Given the description of an element on the screen output the (x, y) to click on. 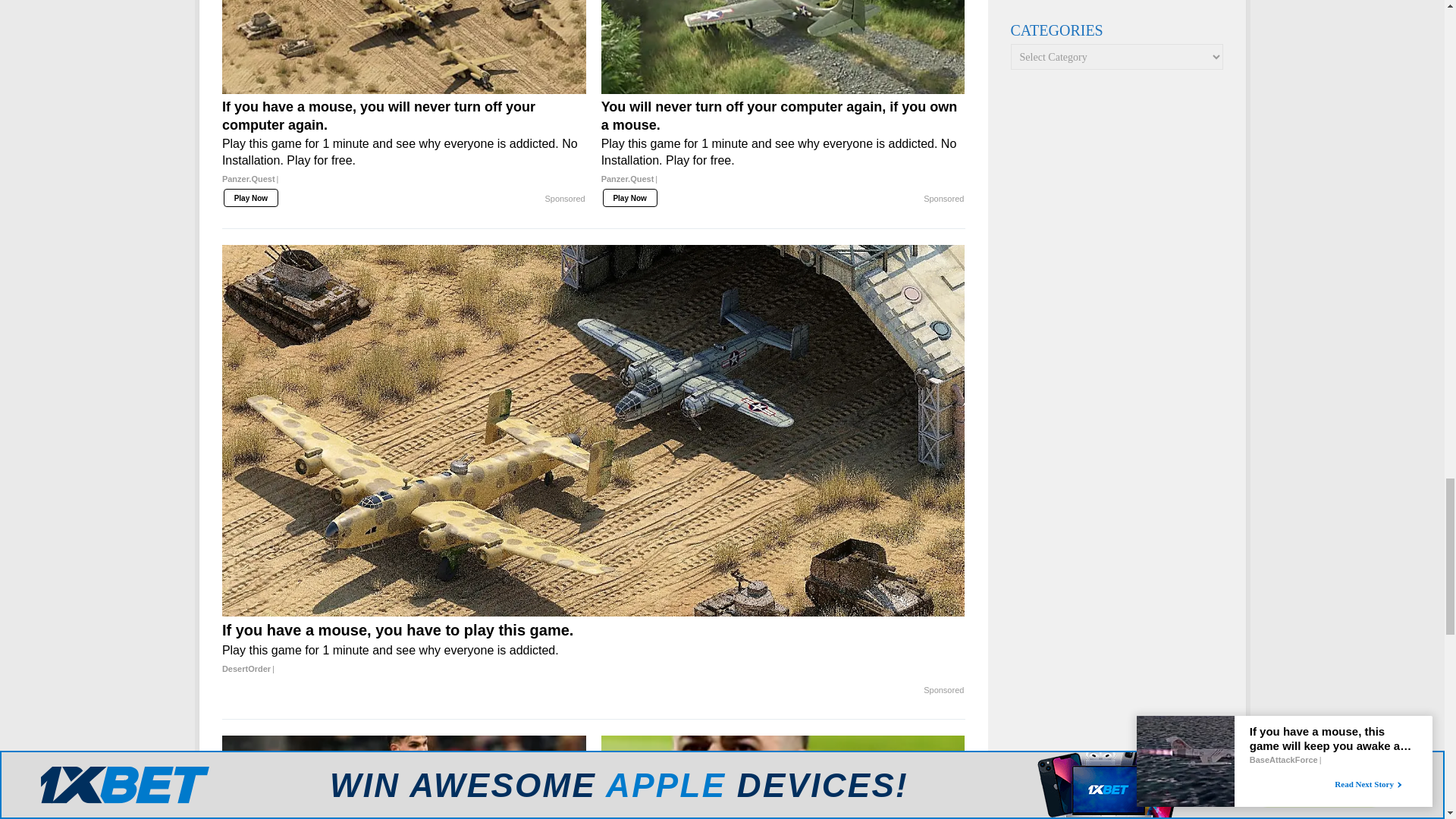
Sponsored (564, 199)
